Given the description of an element on the screen output the (x, y) to click on. 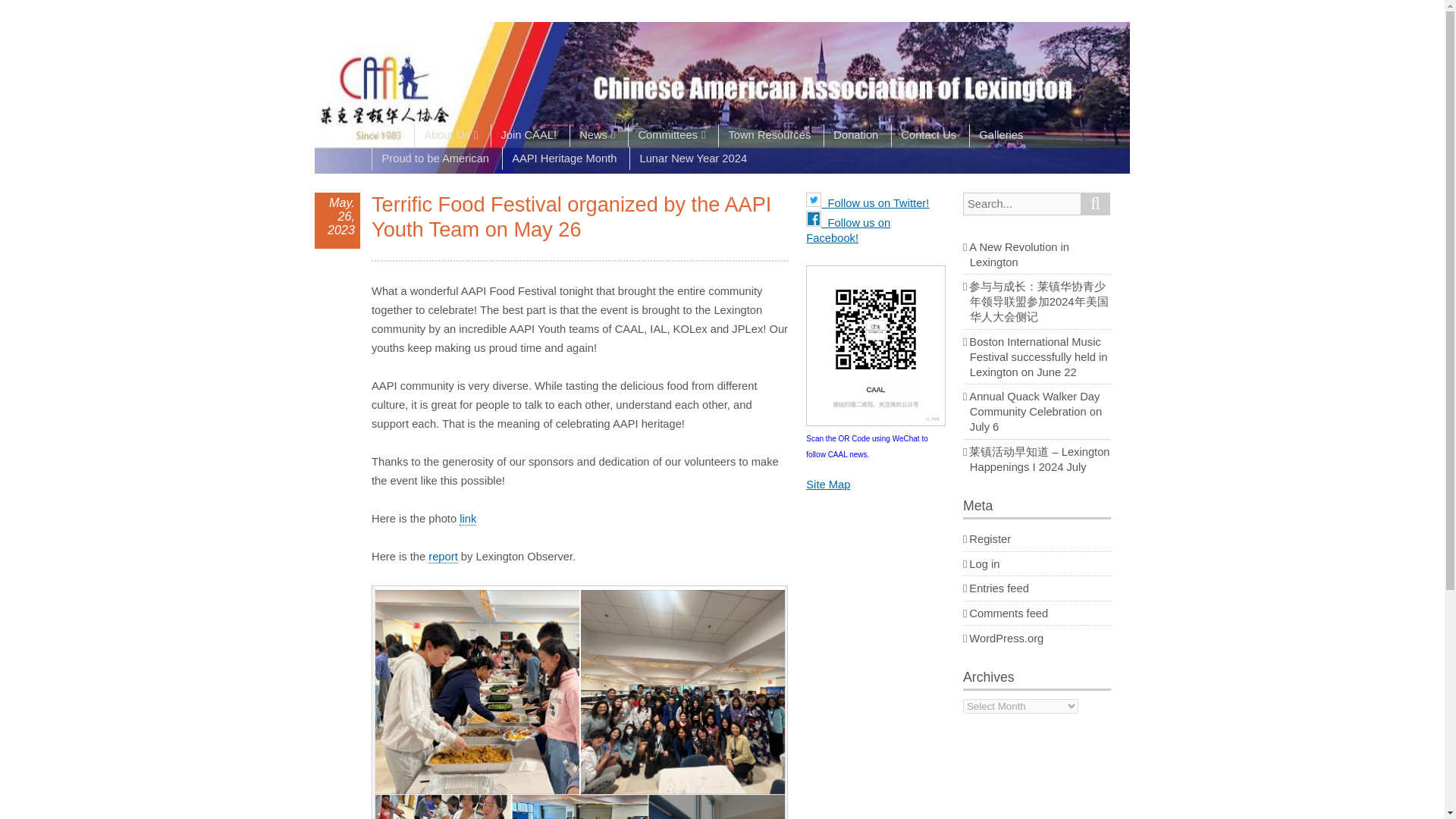
About Us (450, 135)
Search (1094, 203)
Galleries (1000, 135)
News (596, 135)
Lunar New Year 2024 (692, 158)
  Follow us on Facebook! (847, 230)
A New Revolution in Lexington (1018, 254)
Site Map (828, 484)
  Follow us on Twitter! (867, 203)
link (468, 518)
Town Resources (769, 135)
Home (390, 135)
Donation (856, 135)
AAPI Heritage Month (564, 158)
report (442, 556)
